Given the description of an element on the screen output the (x, y) to click on. 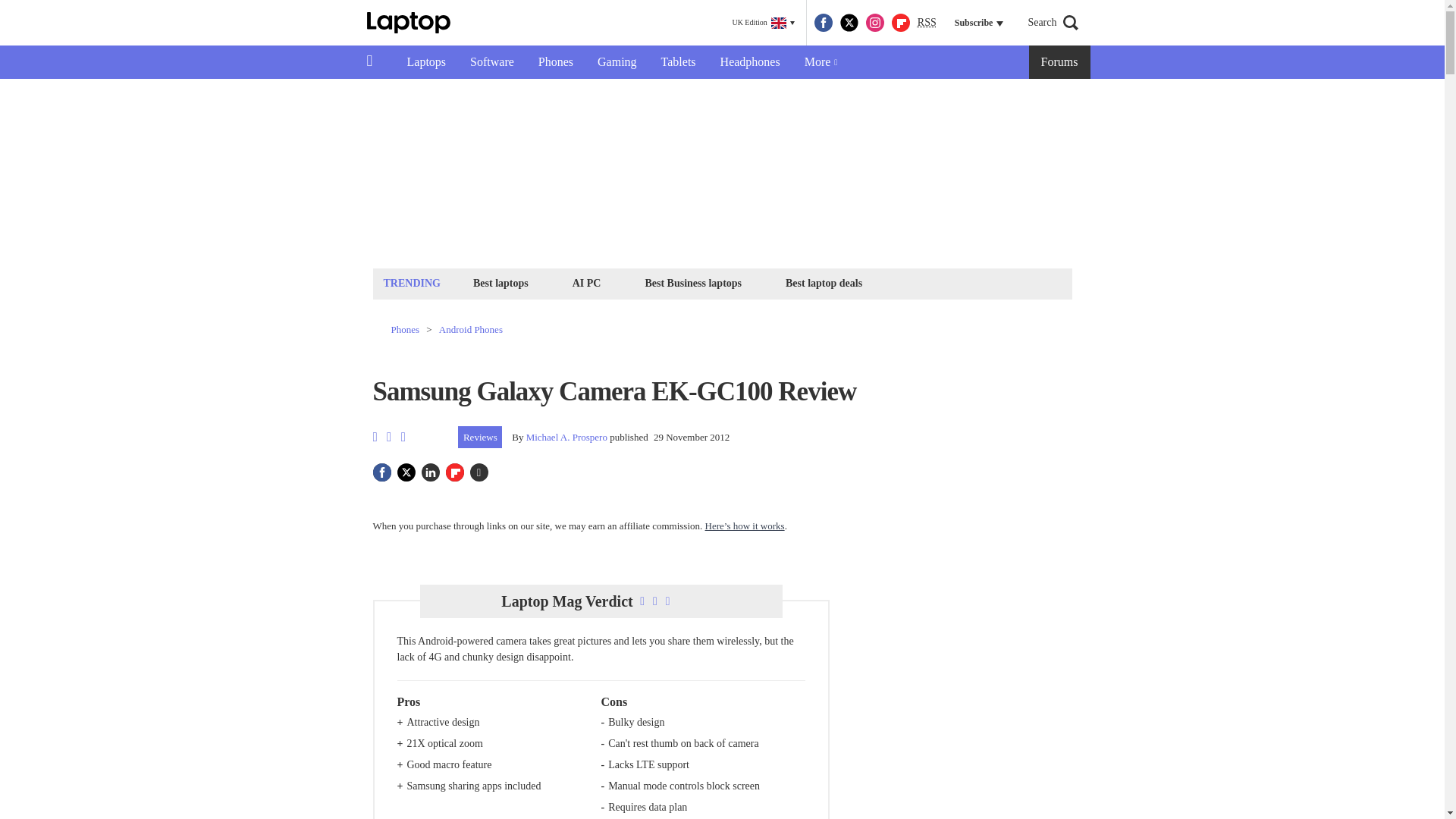
Really Simple Syndication (926, 21)
Best laptops (500, 282)
Phones (555, 61)
Gaming (617, 61)
UK Edition (762, 22)
Best Business laptops (692, 282)
Laptops (426, 61)
Tablets (678, 61)
RSS (926, 22)
Best laptop deals (823, 282)
